Given the description of an element on the screen output the (x, y) to click on. 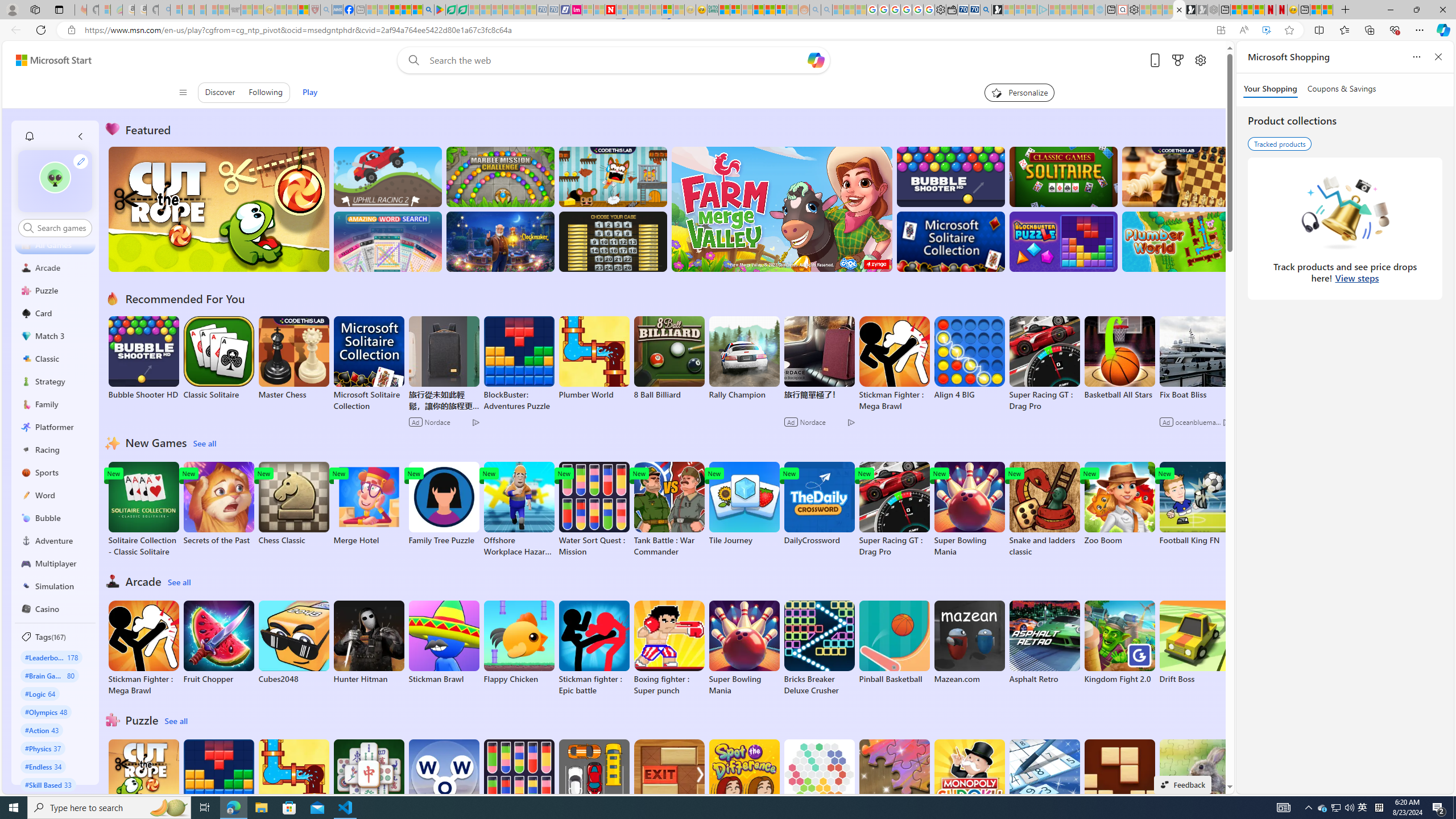
#Endless 34 (43, 766)
Pets - MSN (405, 9)
AutomationID: control (61, 227)
Stickman Brawl (443, 642)
#Skill Based 33 (47, 784)
Solitaire Collection - Classic Solitaire (143, 509)
